Given the description of an element on the screen output the (x, y) to click on. 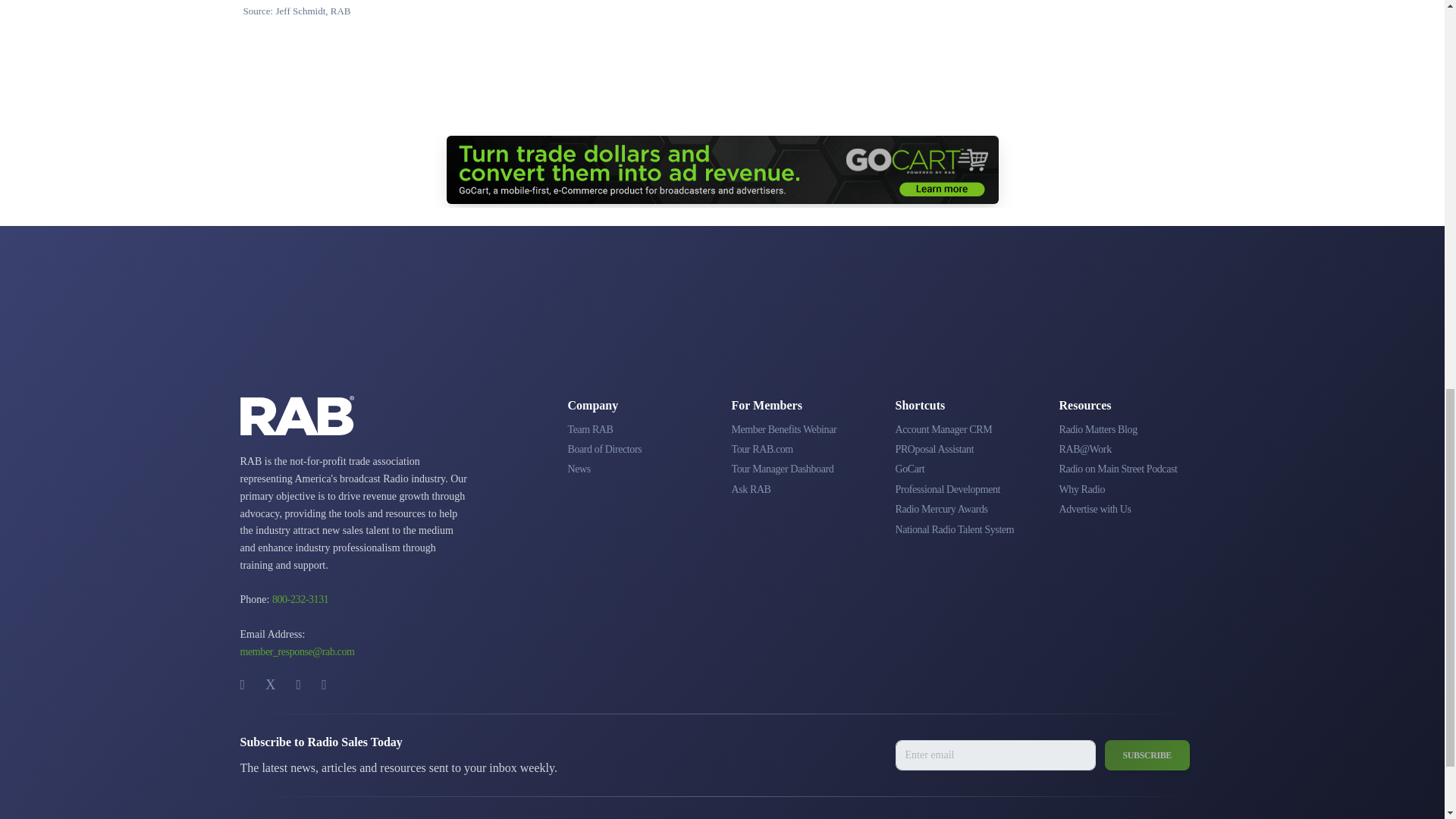
Subscribe (1146, 755)
